Given the description of an element on the screen output the (x, y) to click on. 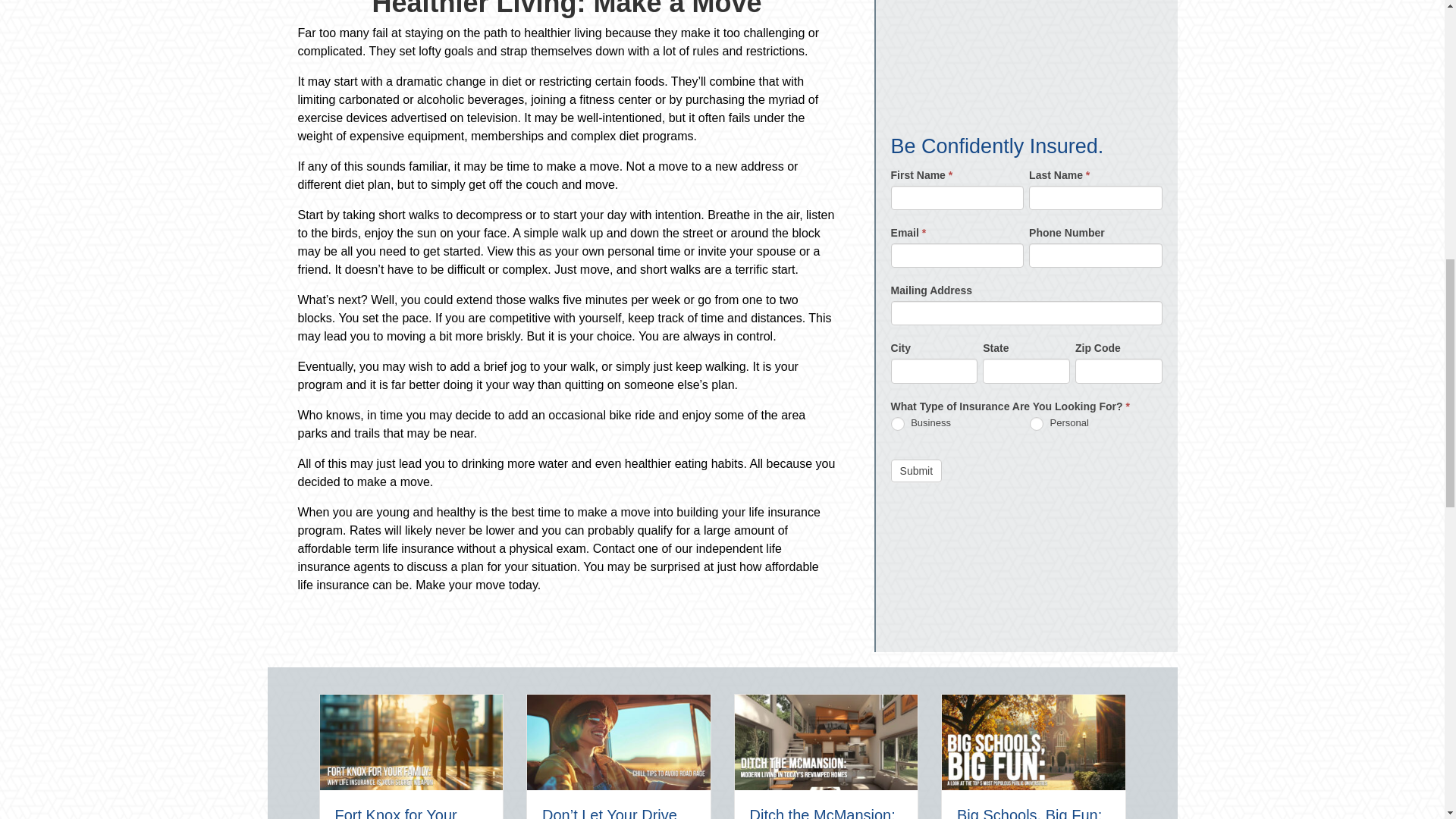
Submit (916, 130)
Personal (1036, 83)
Business (897, 83)
